Given the description of an element on the screen output the (x, y) to click on. 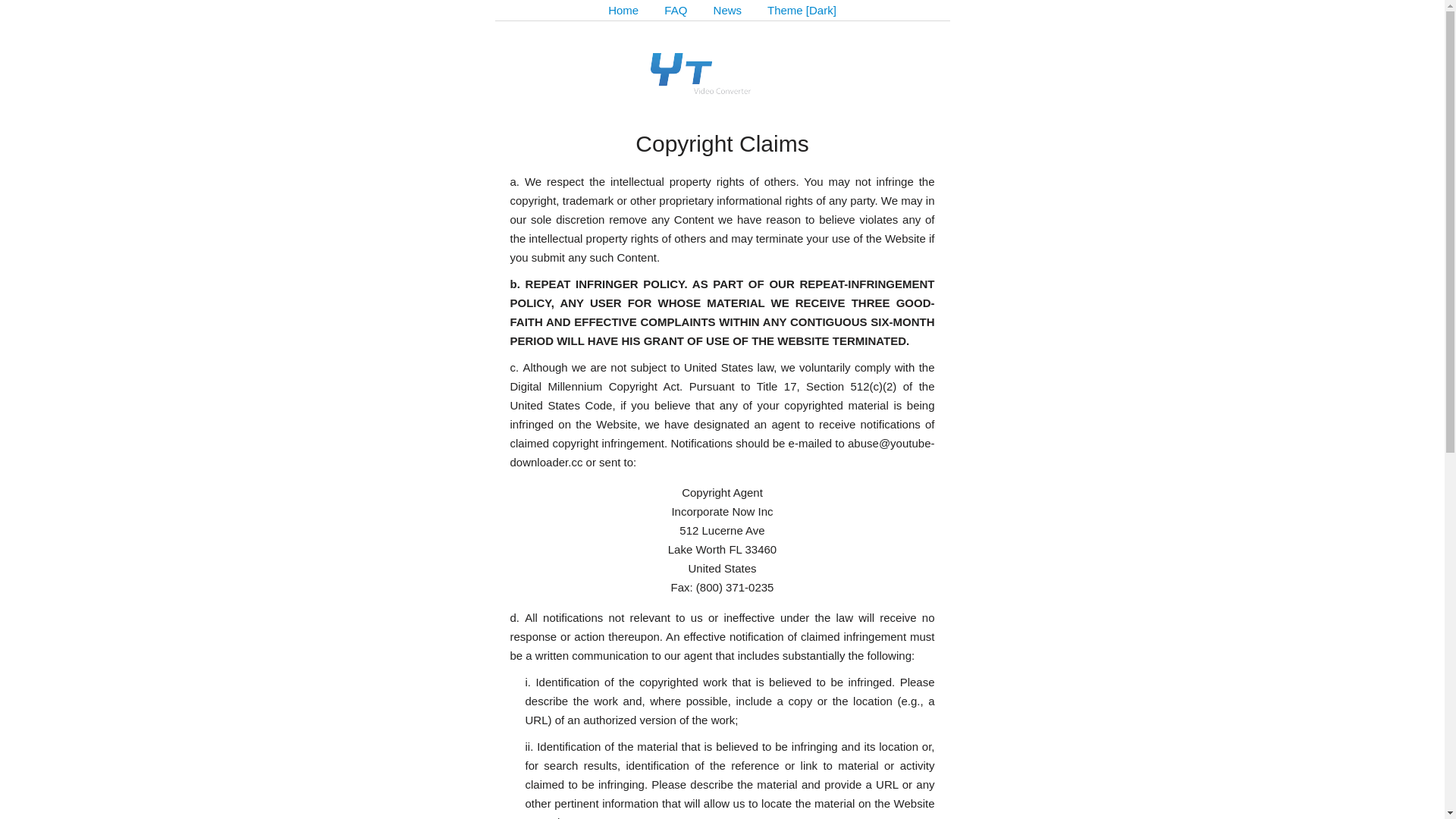
FAQ Element type: text (675, 9)
Theme [Dark] Element type: text (801, 9)
Home Element type: text (623, 9)
News Element type: text (727, 9)
